Given the description of an element on the screen output the (x, y) to click on. 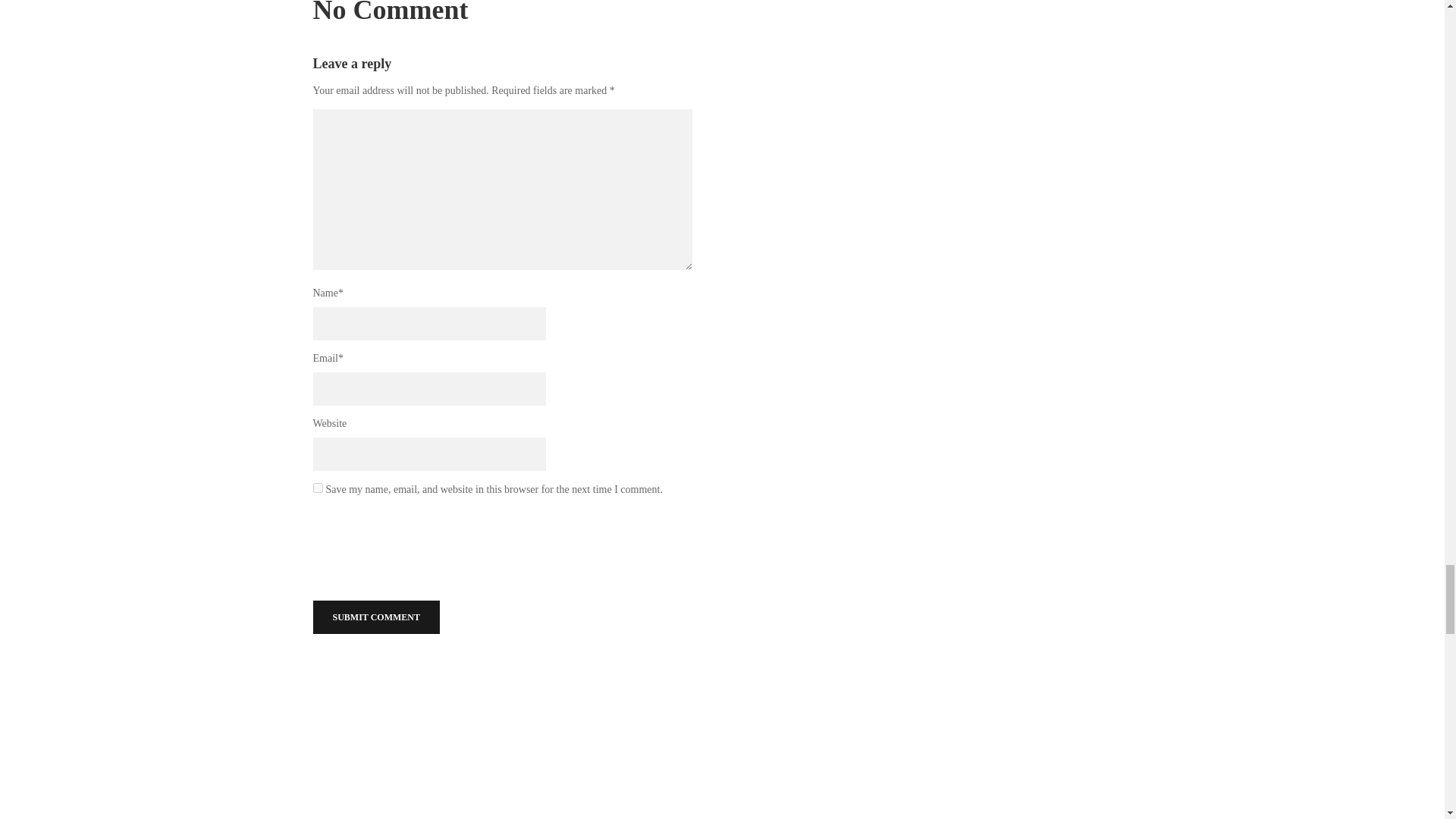
yes (317, 488)
Submit comment (376, 616)
